Given the description of an element on the screen output the (x, y) to click on. 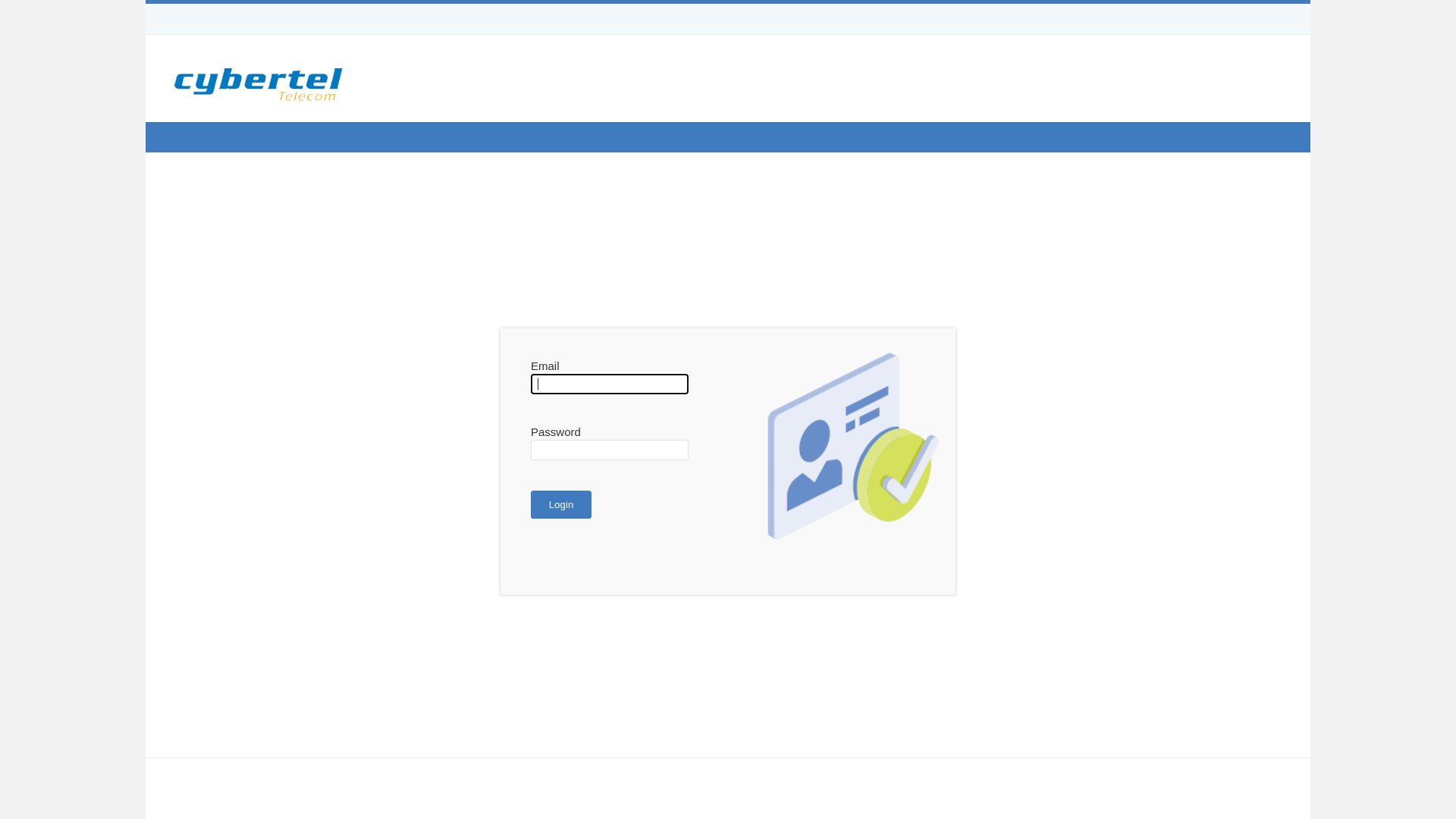
Login Element type: text (560, 503)
